Given the description of an element on the screen output the (x, y) to click on. 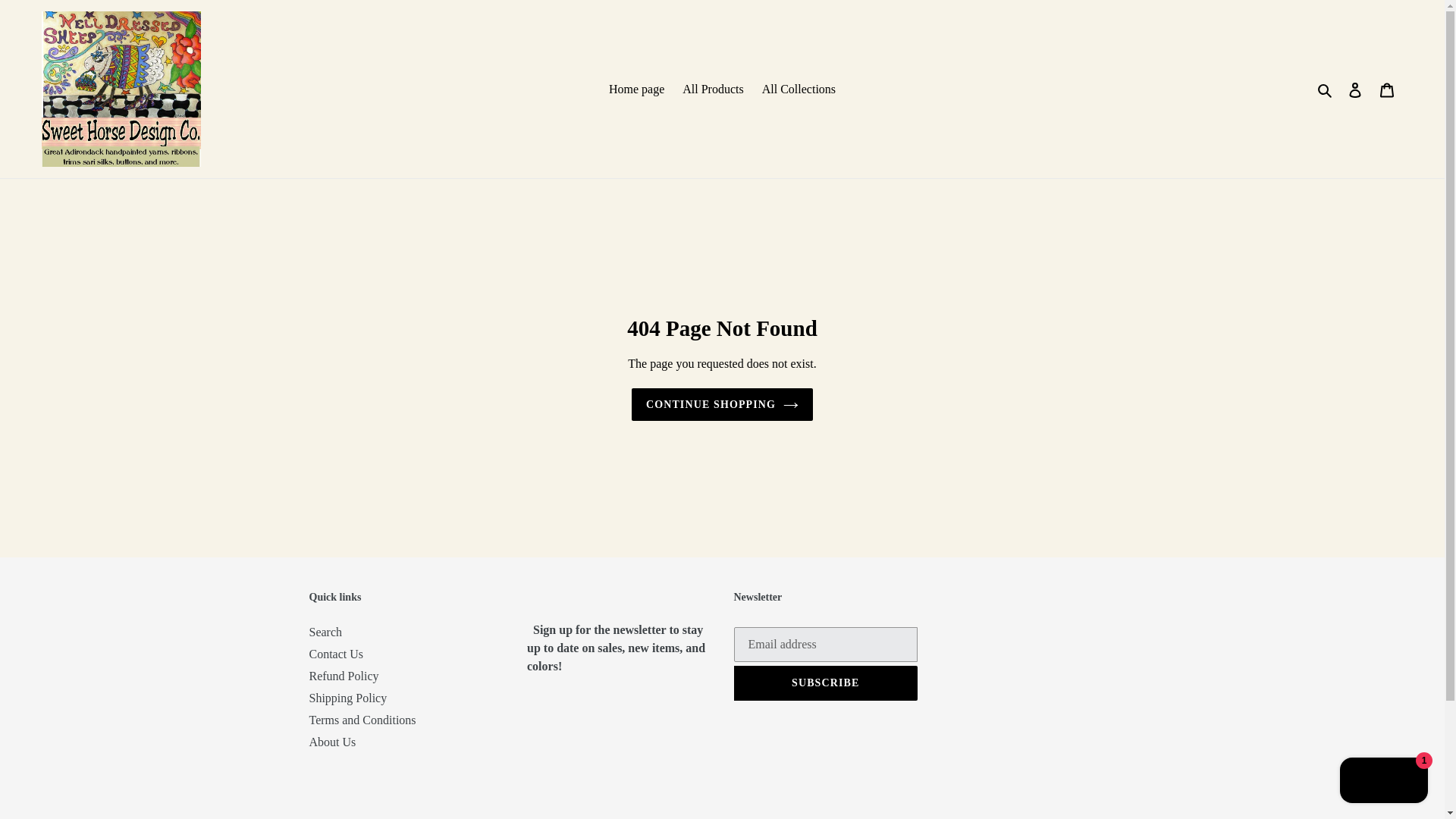
Shipping Policy (347, 697)
About Us (332, 741)
Terms and Conditions (362, 719)
CONTINUE SHOPPING (721, 404)
Search (325, 631)
Contact Us (336, 653)
Cart (1387, 89)
Search (1326, 88)
All Products (713, 87)
Home page (636, 87)
SUBSCRIBE (825, 683)
All Collections (798, 87)
Log in (1355, 89)
Shopify online store chat (1383, 781)
Refund Policy (343, 675)
